Given the description of an element on the screen output the (x, y) to click on. 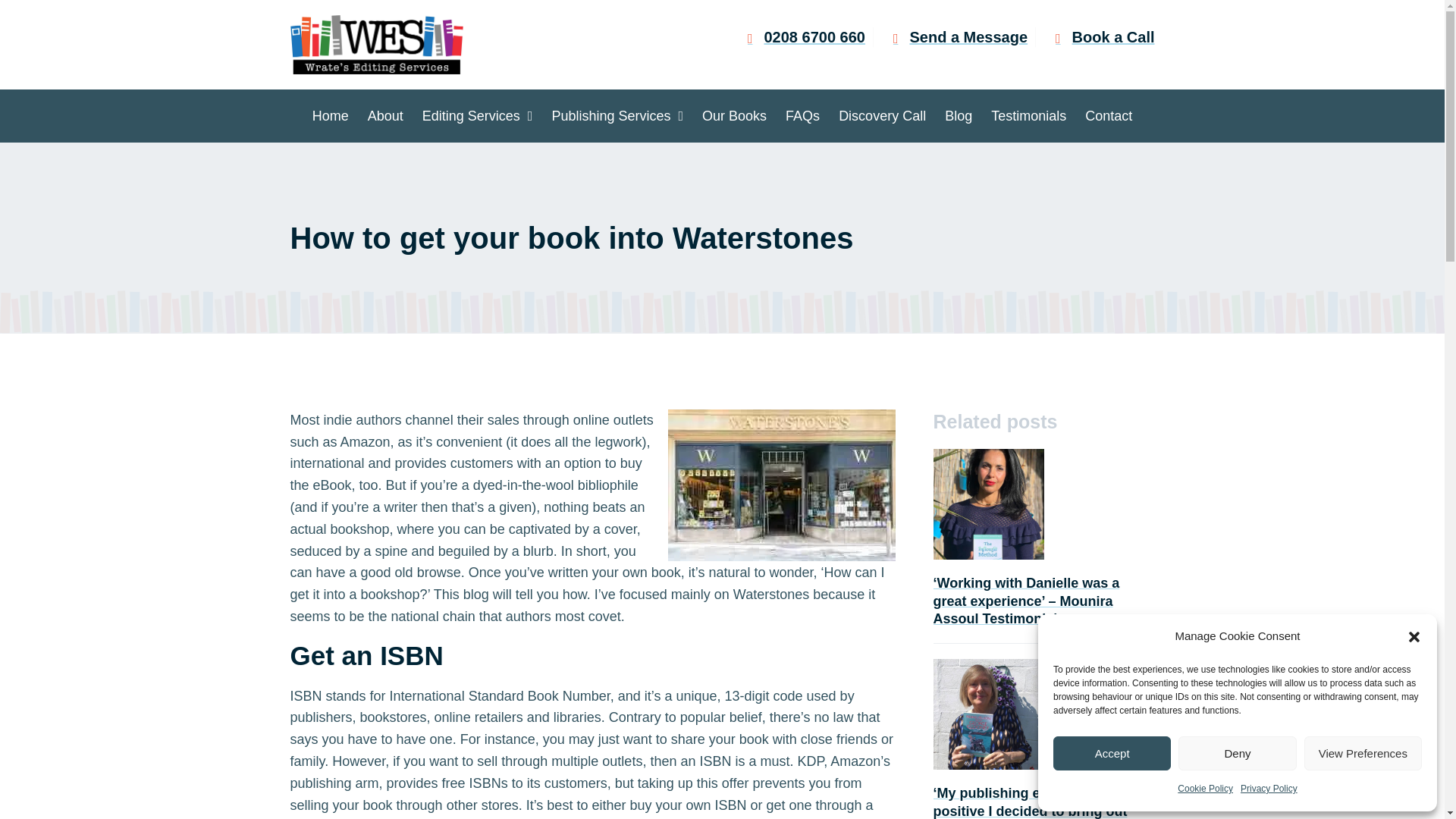
Book a Call (1098, 36)
View Preferences (1363, 753)
0208 6700 660 (799, 36)
Send a Message (953, 36)
Accept (1111, 753)
Deny (1236, 753)
Cookie Policy (1205, 789)
Privacy Policy (1268, 789)
How to get your book into Waterstones 1 (780, 485)
